Given the description of an element on the screen output the (x, y) to click on. 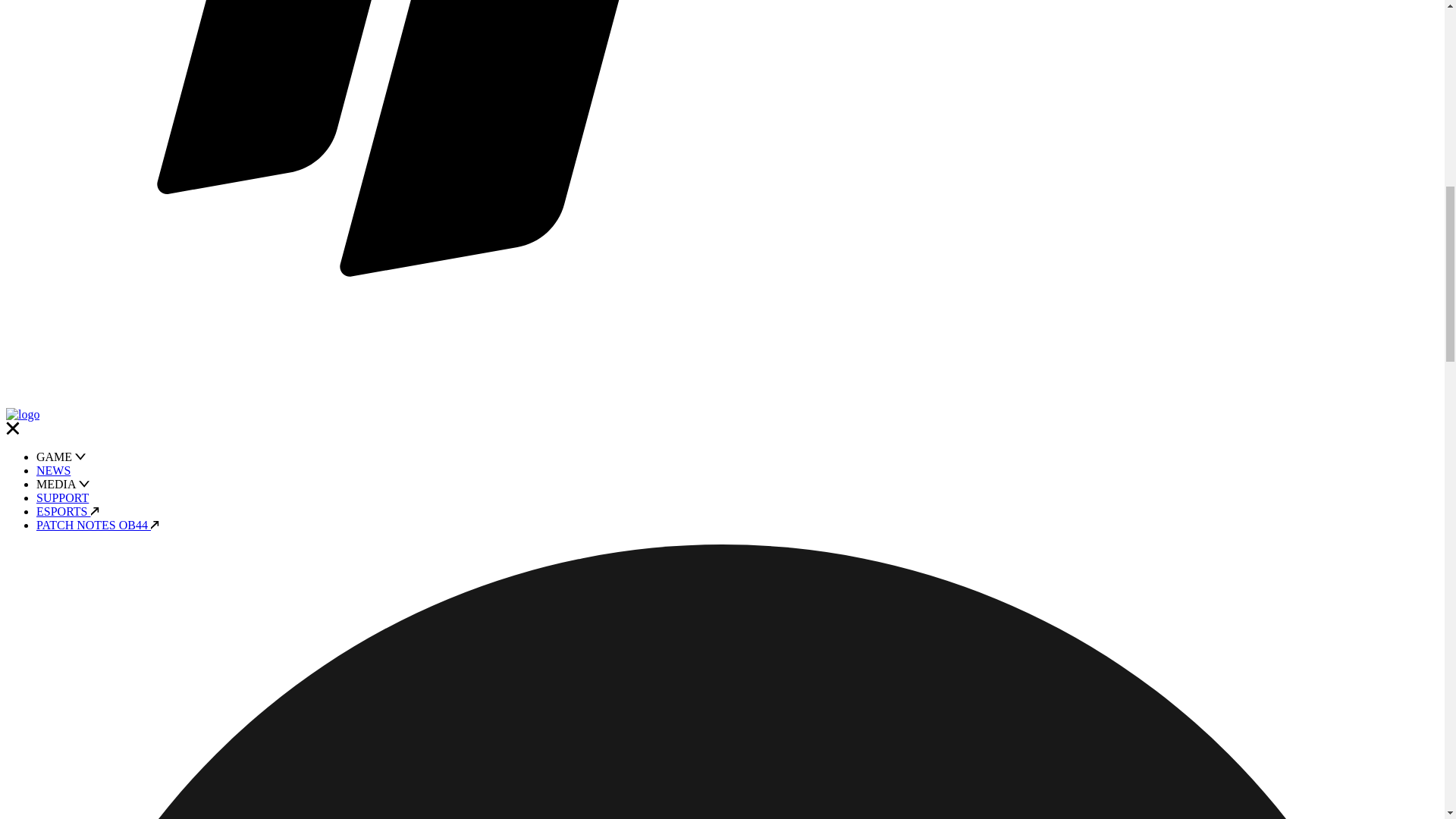
PATCH NOTES OB44 (97, 524)
GAME (60, 456)
ESPORTS (67, 511)
SUPPORT (62, 497)
NEWS (52, 470)
MEDIA (62, 483)
